Given the description of an element on the screen output the (x, y) to click on. 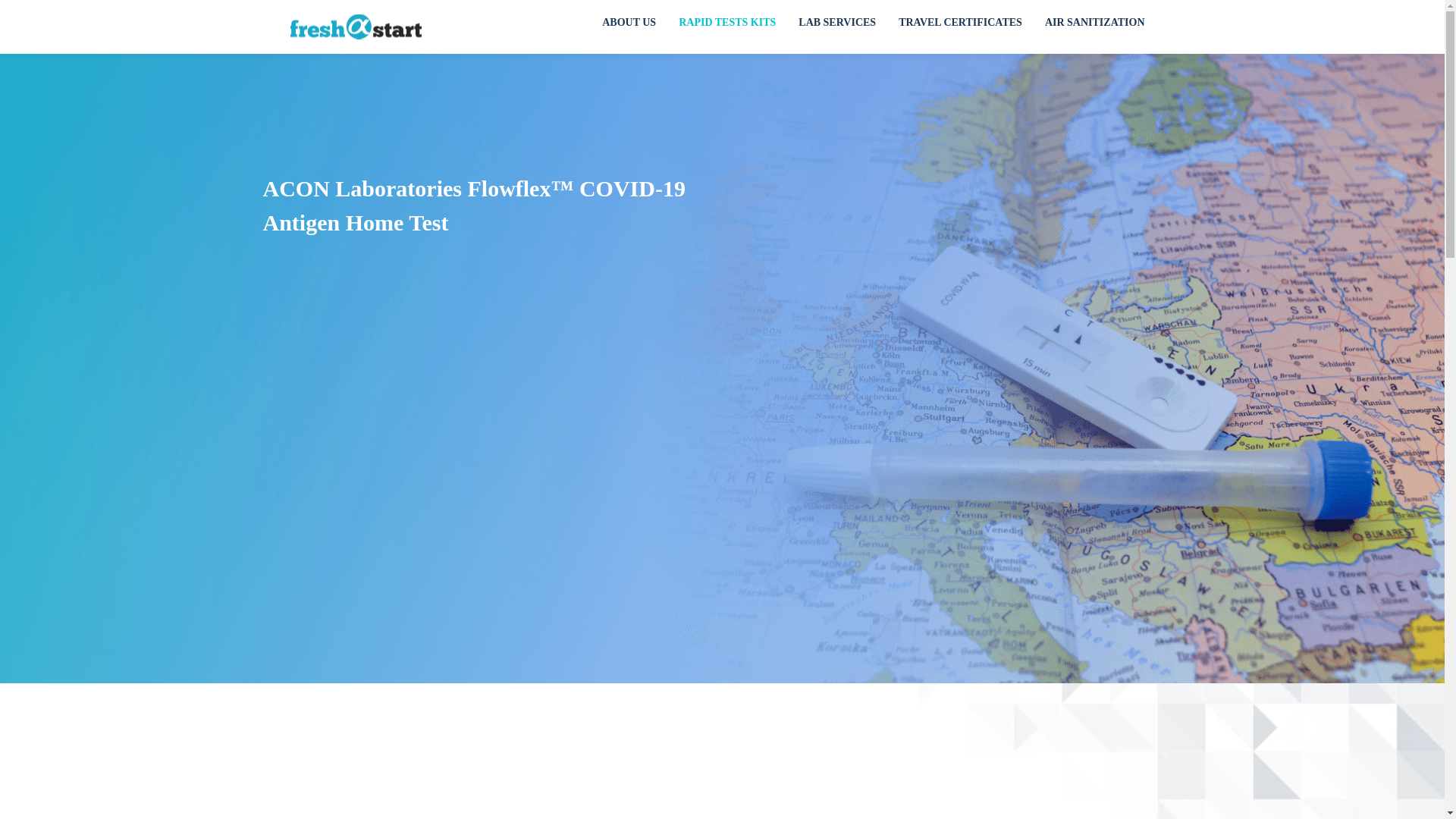
LAB SERVICES (836, 26)
ABOUT US (629, 26)
TRAVEL CERTIFICATES (960, 26)
AIR SANITIZATION (1094, 26)
RAPID TESTS KITS (727, 26)
